Given the description of an element on the screen output the (x, y) to click on. 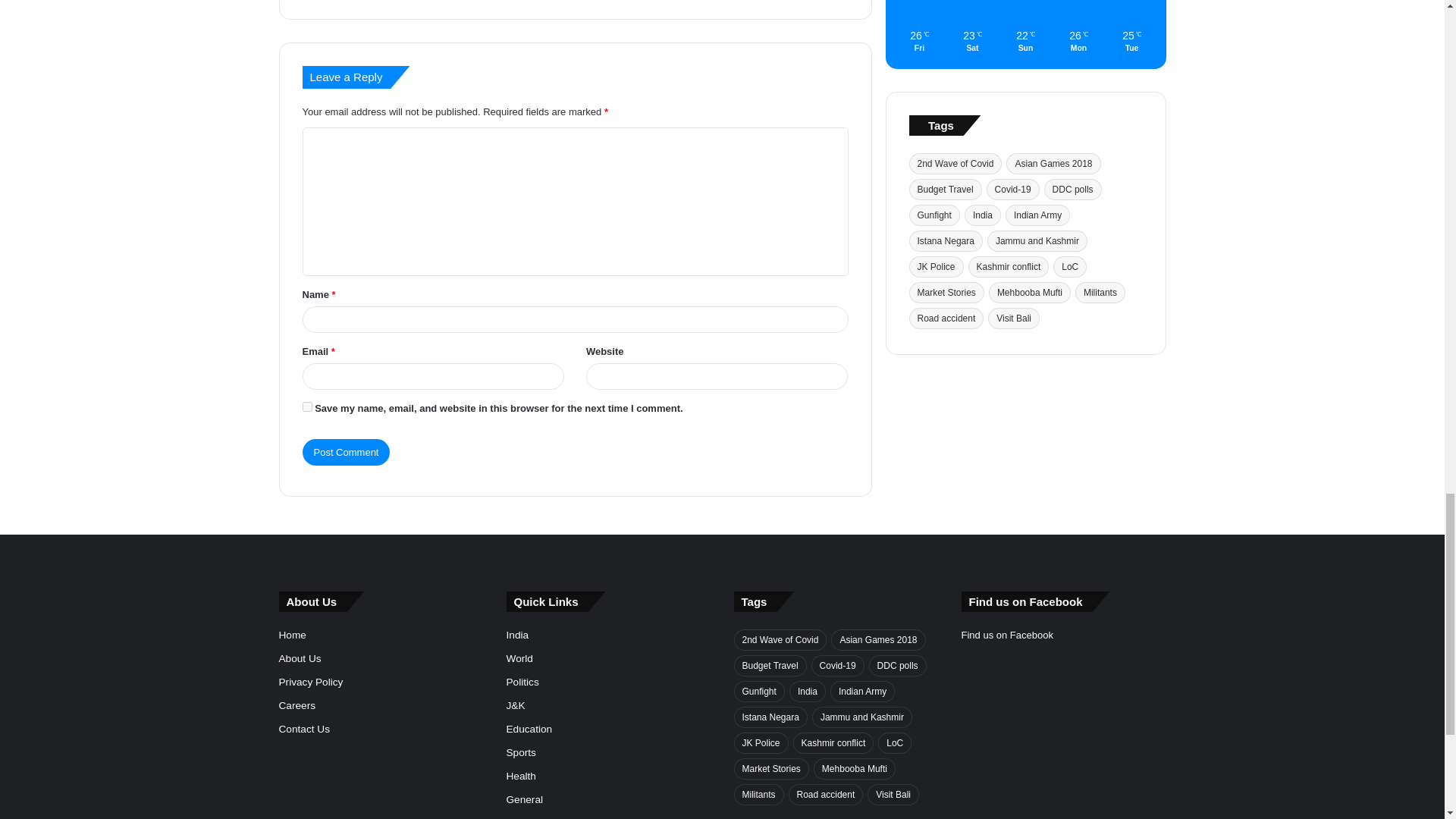
yes (306, 239)
Post Comment (345, 284)
